Given the description of an element on the screen output the (x, y) to click on. 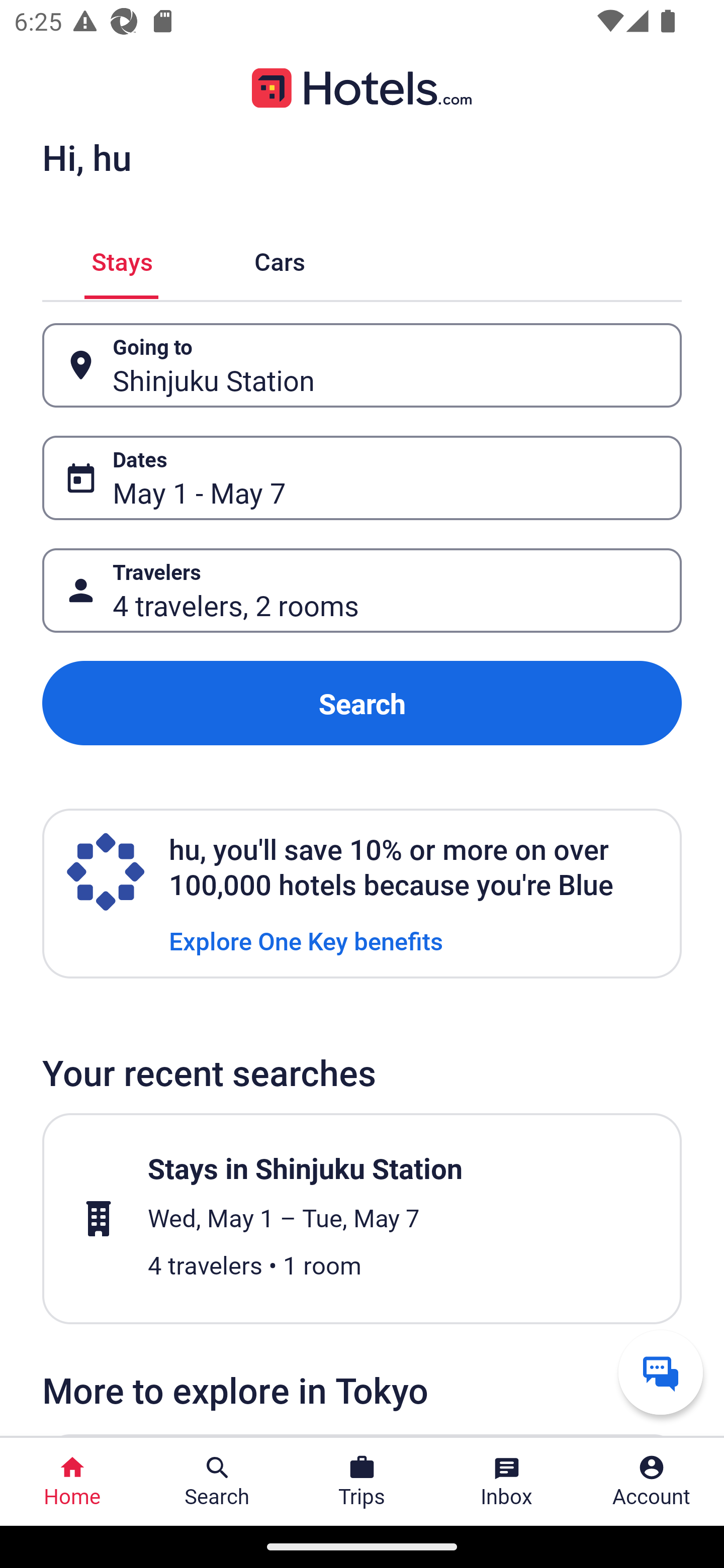
Hi, hu (86, 156)
Cars (279, 259)
Going to Button Shinjuku Station (361, 365)
Dates Button May 1 - May 7 (361, 477)
Travelers Button 4 travelers, 2 rooms (361, 590)
Search (361, 702)
Get help from a virtual agent (660, 1371)
Search Search Button (216, 1481)
Trips Trips Button (361, 1481)
Inbox Inbox Button (506, 1481)
Account Profile. Button (651, 1481)
